Given the description of an element on the screen output the (x, y) to click on. 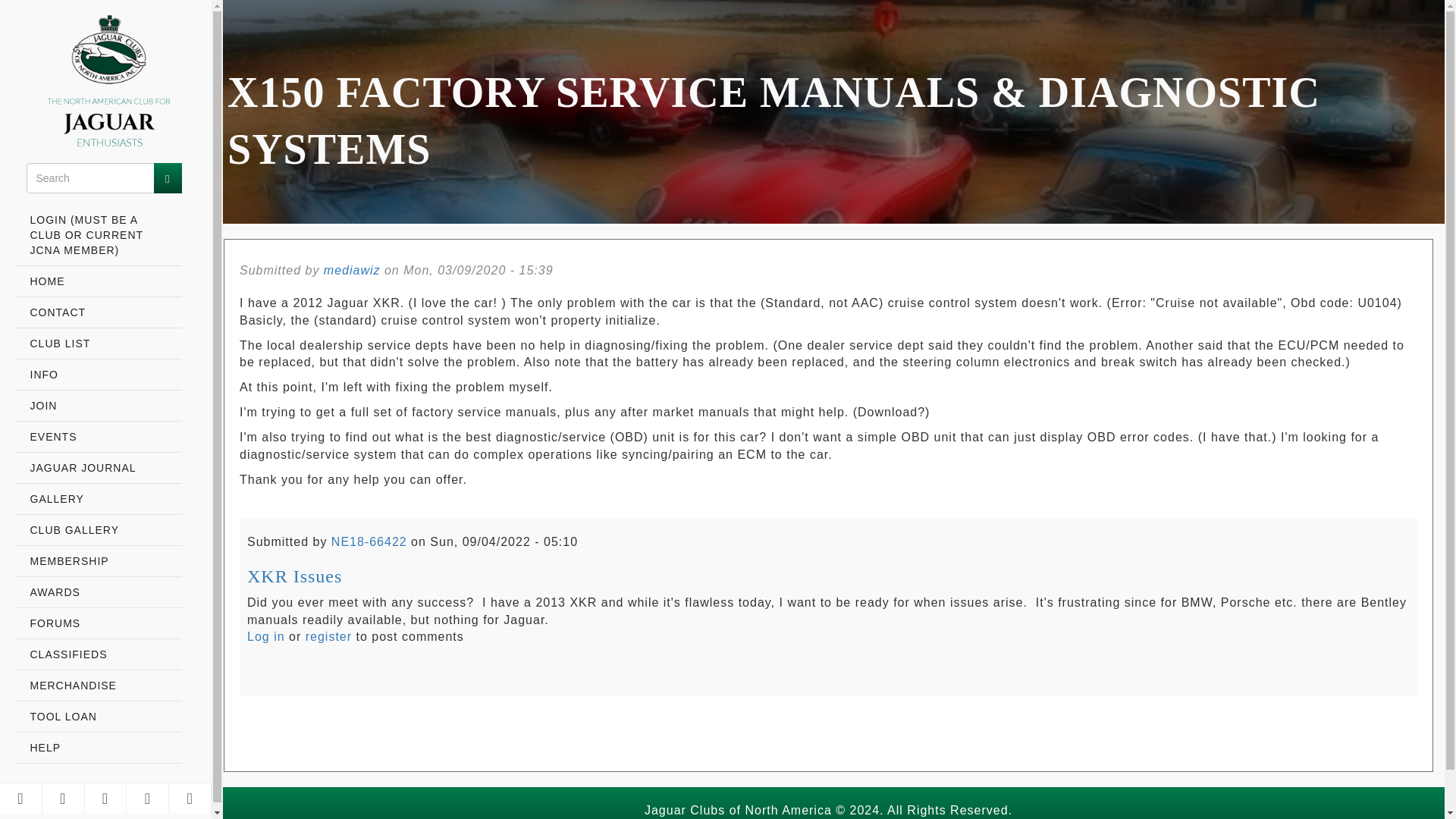
AWARDS (98, 592)
MEMBERSHIP (98, 561)
CLUB GALLERY (98, 530)
GALLERY (98, 499)
Home (98, 83)
JOIN (98, 405)
FORUMS (98, 623)
TOOL LOAN (98, 716)
View user profile. (369, 541)
CLASSIFIEDS (98, 654)
CLUB LIST (98, 343)
Search (167, 177)
View user profile. (351, 269)
JAGUAR JOURNAL (98, 468)
